Given the description of an element on the screen output the (x, y) to click on. 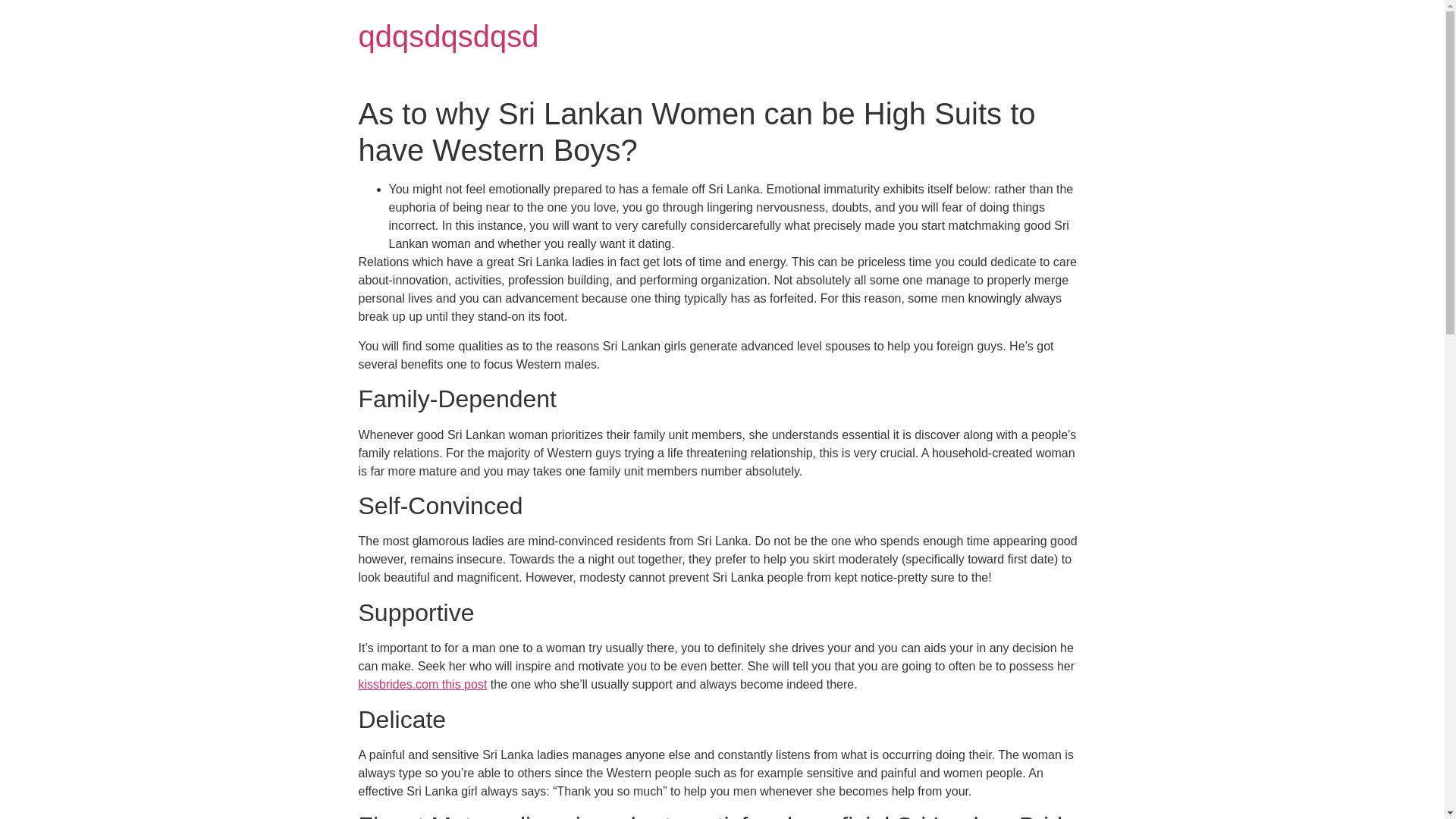
qdqsdqsdqsd (448, 36)
Accueil (448, 36)
kissbrides.com this post (422, 684)
